Given the description of an element on the screen output the (x, y) to click on. 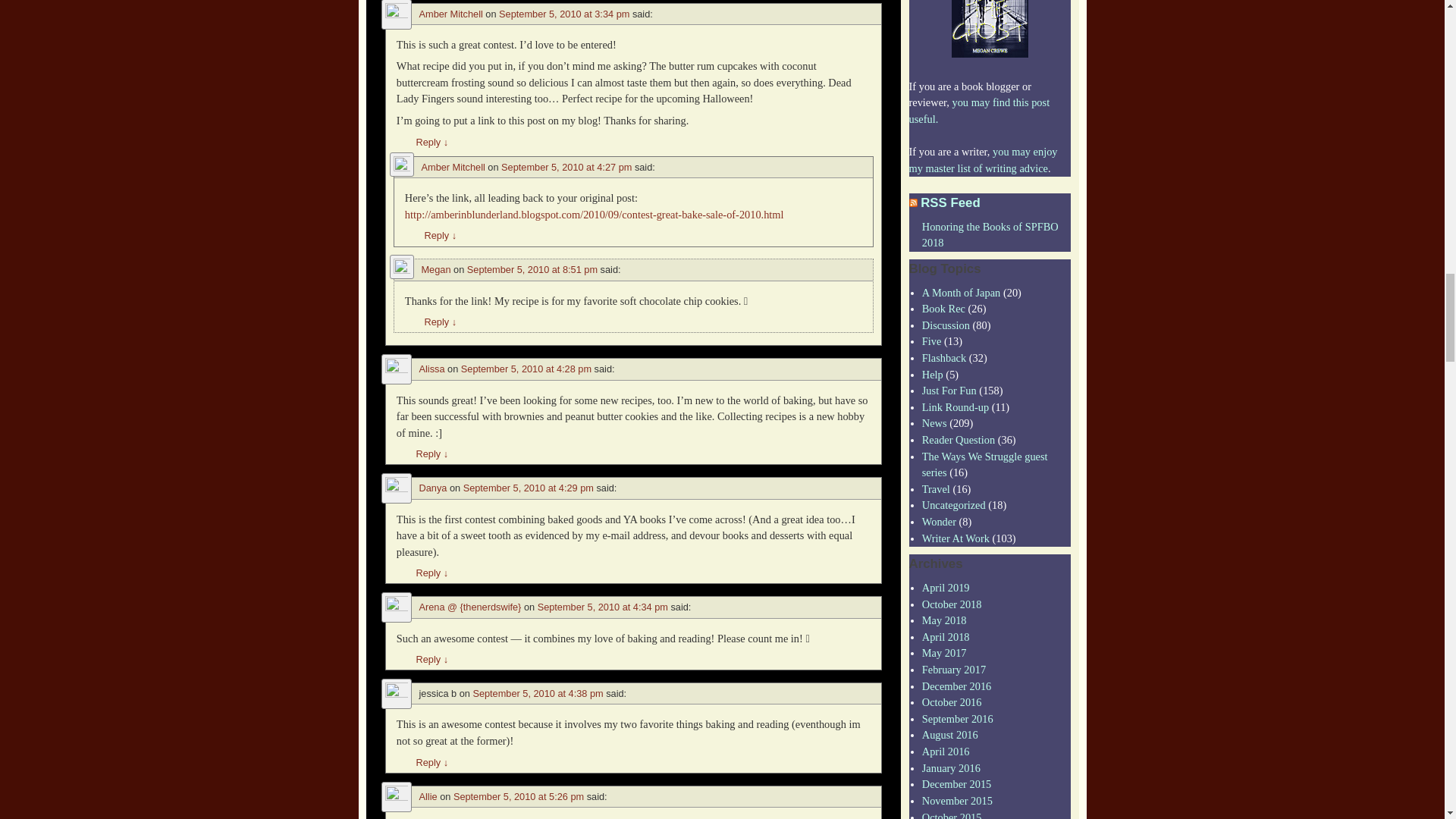
Awesome books you should check out! (943, 308)
Speculations and curiosities (938, 521)
Amber Mitchell (453, 166)
Amber Mitchell (450, 13)
Book and author news (934, 422)
September 5, 2010 at 4:27 pm (565, 166)
September 5, 2010 at 4:29 pm (528, 487)
The daily life of a working writer (955, 538)
September 5, 2010 at 3:34 pm (563, 13)
